Given the description of an element on the screen output the (x, y) to click on. 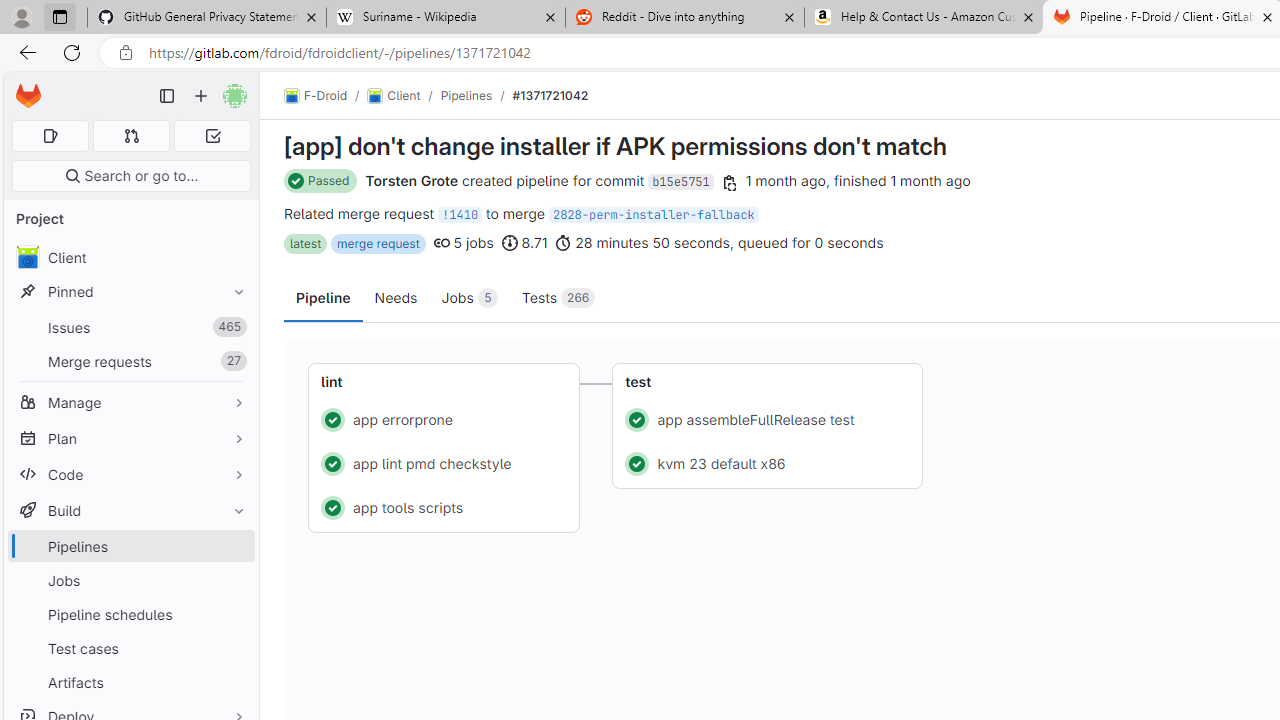
Create new... (201, 96)
Pipelines (466, 95)
Skip to main content (23, 87)
Pipeline schedules (130, 614)
Copy commit SHA (729, 182)
Code (130, 474)
Manage (130, 402)
Pipeline (323, 296)
#1371721042 (550, 95)
Pin Pipeline schedules (234, 614)
Status: Passed (321, 181)
